Given the description of an element on the screen output the (x, y) to click on. 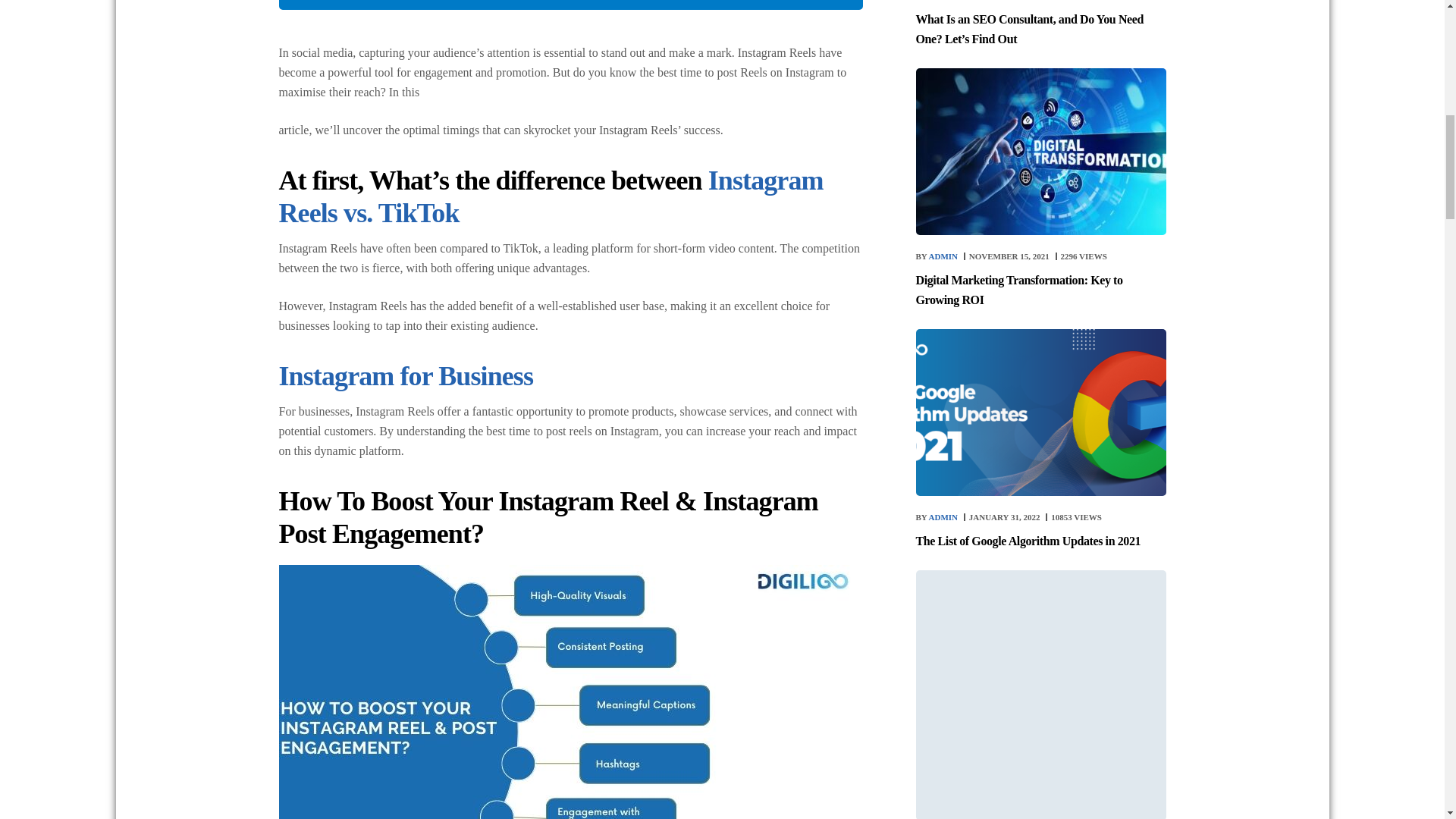
Instagram for Business (406, 376)
Instagram Reels vs. TikTok (551, 196)
